Given the description of an element on the screen output the (x, y) to click on. 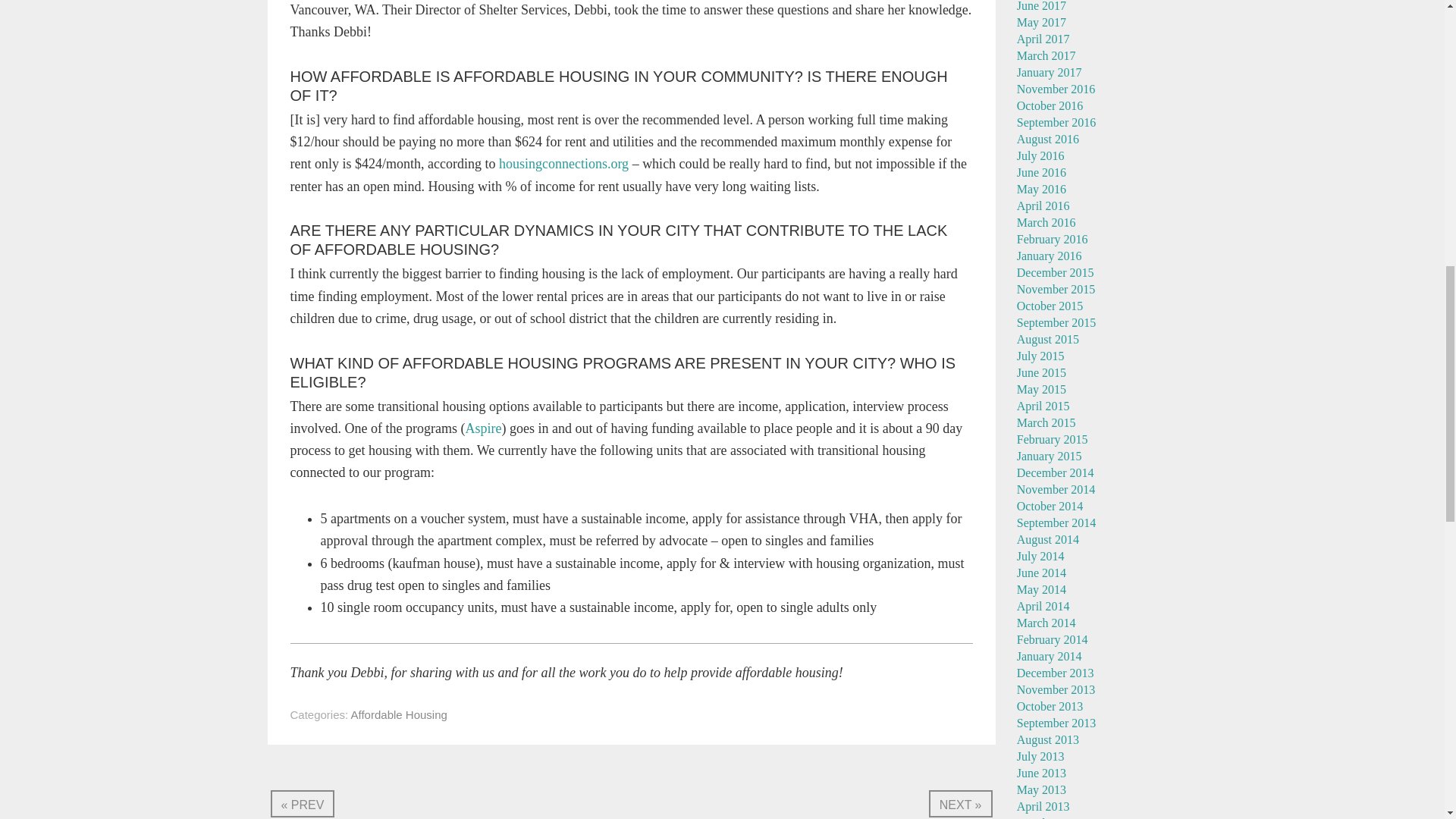
Affordable Housing (398, 714)
Aspire (482, 427)
housingconnections.org (563, 163)
